Given the description of an element on the screen output the (x, y) to click on. 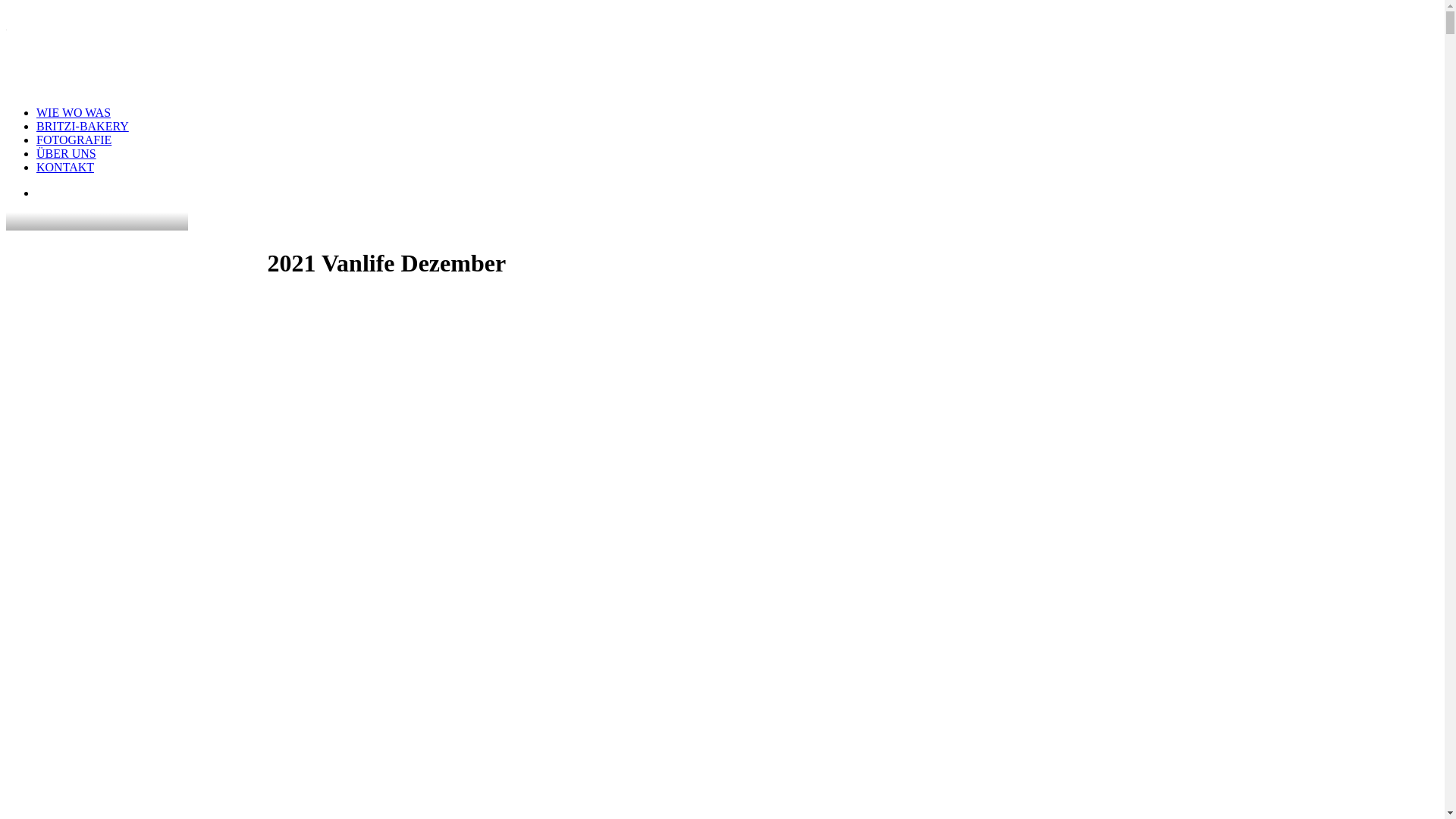
WIE WO WAS Element type: text (73, 112)
KONTAKT Element type: text (65, 166)
FOTOGRAFIE Element type: text (73, 139)
BRITZI-BAKERY Element type: text (82, 125)
